Given the description of an element on the screen output the (x, y) to click on. 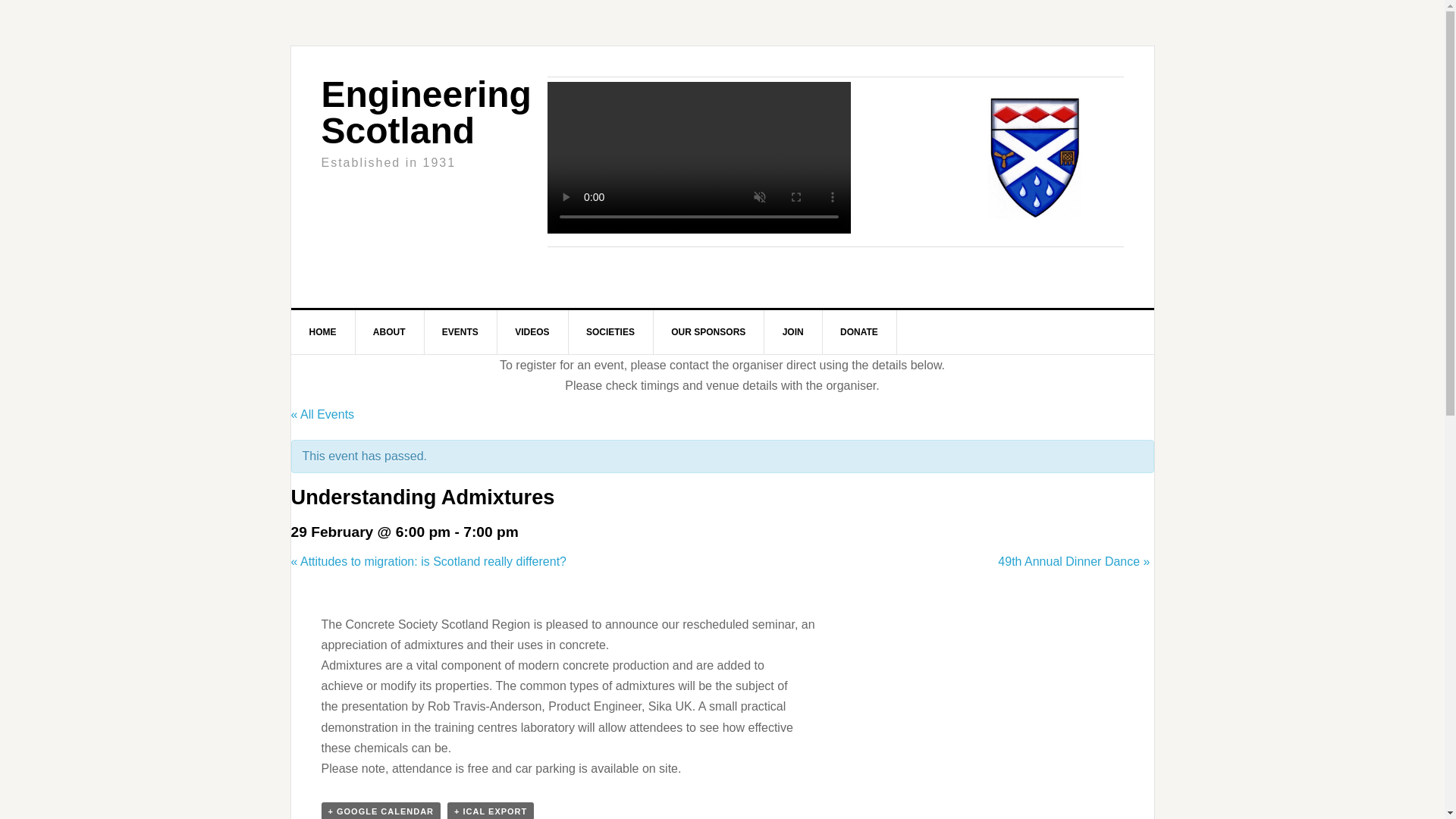
SOCIETIES (610, 331)
HOME (323, 331)
Engineering Scotland (426, 112)
Download .ics file (490, 810)
VIDEOS (531, 331)
JOIN (793, 331)
Add to Google Calendar (381, 810)
DONATE (859, 331)
ABOUT (390, 331)
OUR SPONSORS (708, 331)
